Given the description of an element on the screen output the (x, y) to click on. 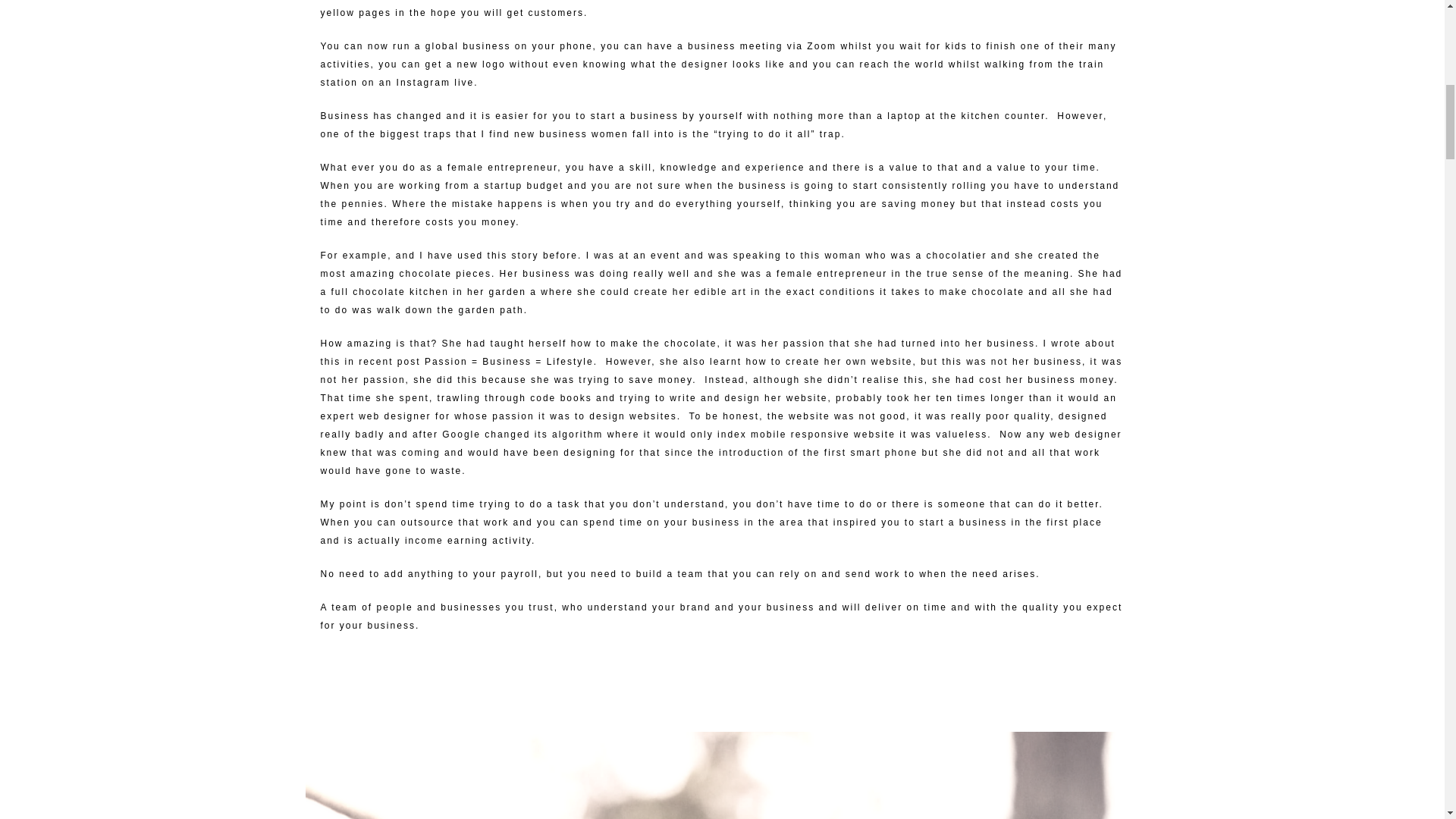
Pegs (721, 775)
